Given the description of an element on the screen output the (x, y) to click on. 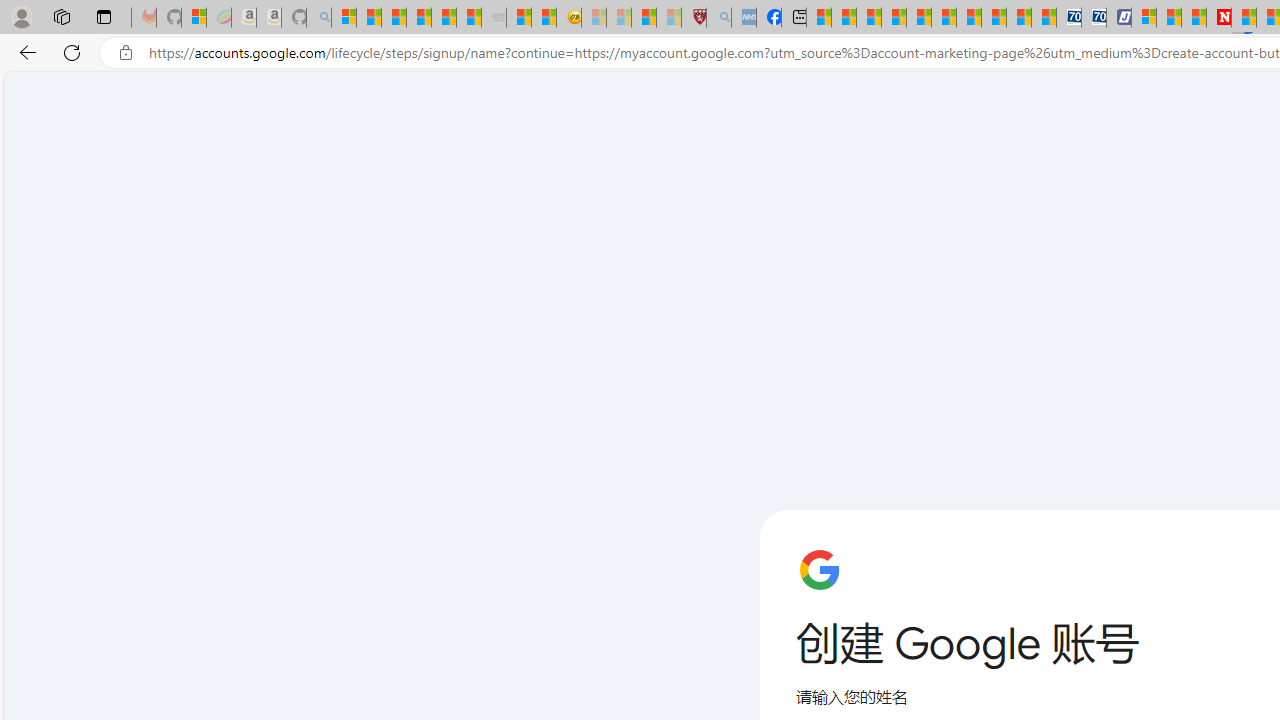
The Weather Channel - MSN (393, 17)
Combat Siege - Sleeping (493, 17)
Newsweek - News, Analysis, Politics, Business, Technology (1219, 17)
